Given the description of an element on the screen output the (x, y) to click on. 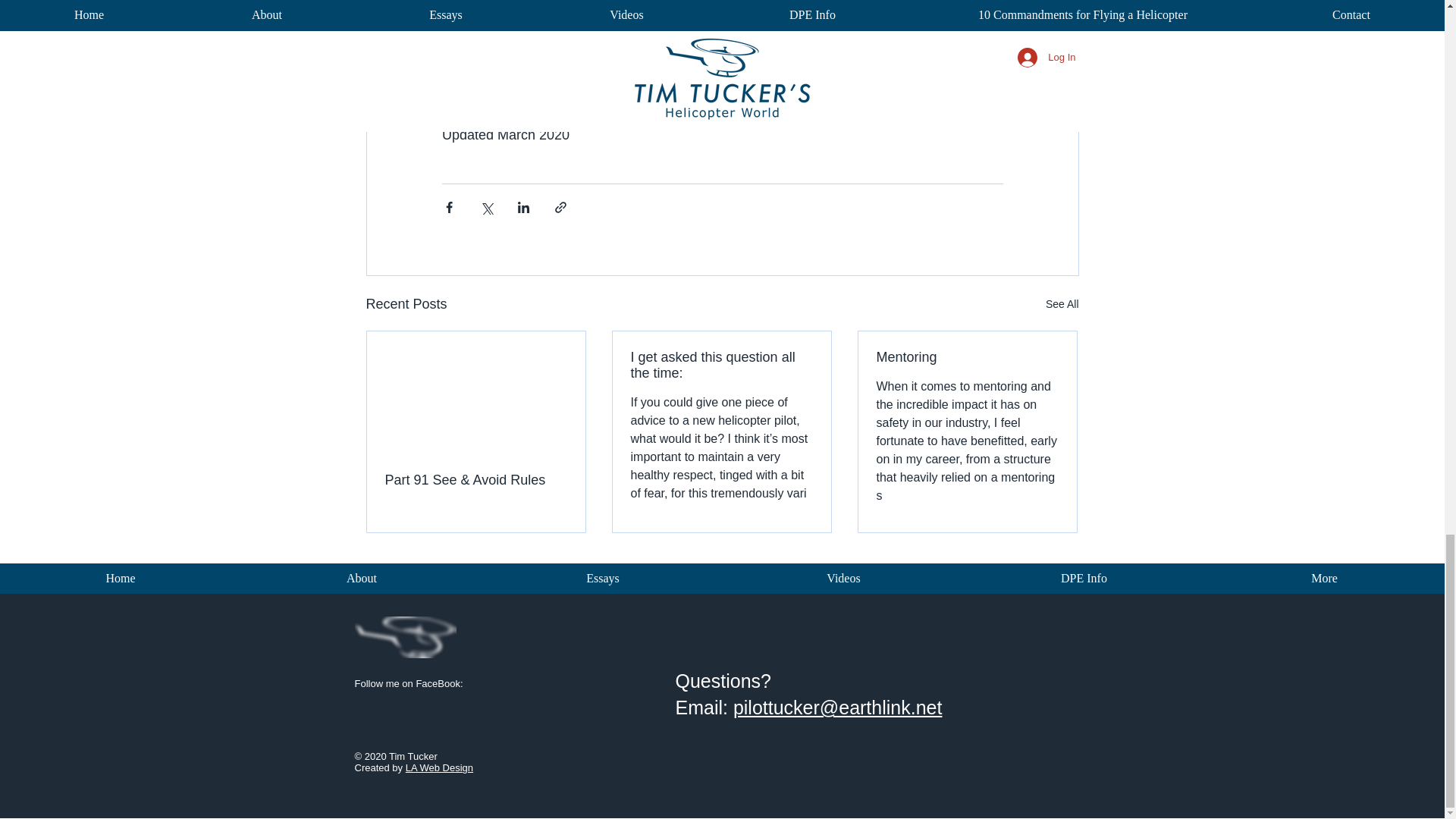
LA Web Design (722, 694)
Essays (439, 767)
Home (602, 578)
See All (120, 578)
DPE Info (1061, 304)
About (1083, 578)
Videos (361, 578)
Mentoring (843, 578)
I get asked this question all the time: (967, 357)
